Given the description of an element on the screen output the (x, y) to click on. 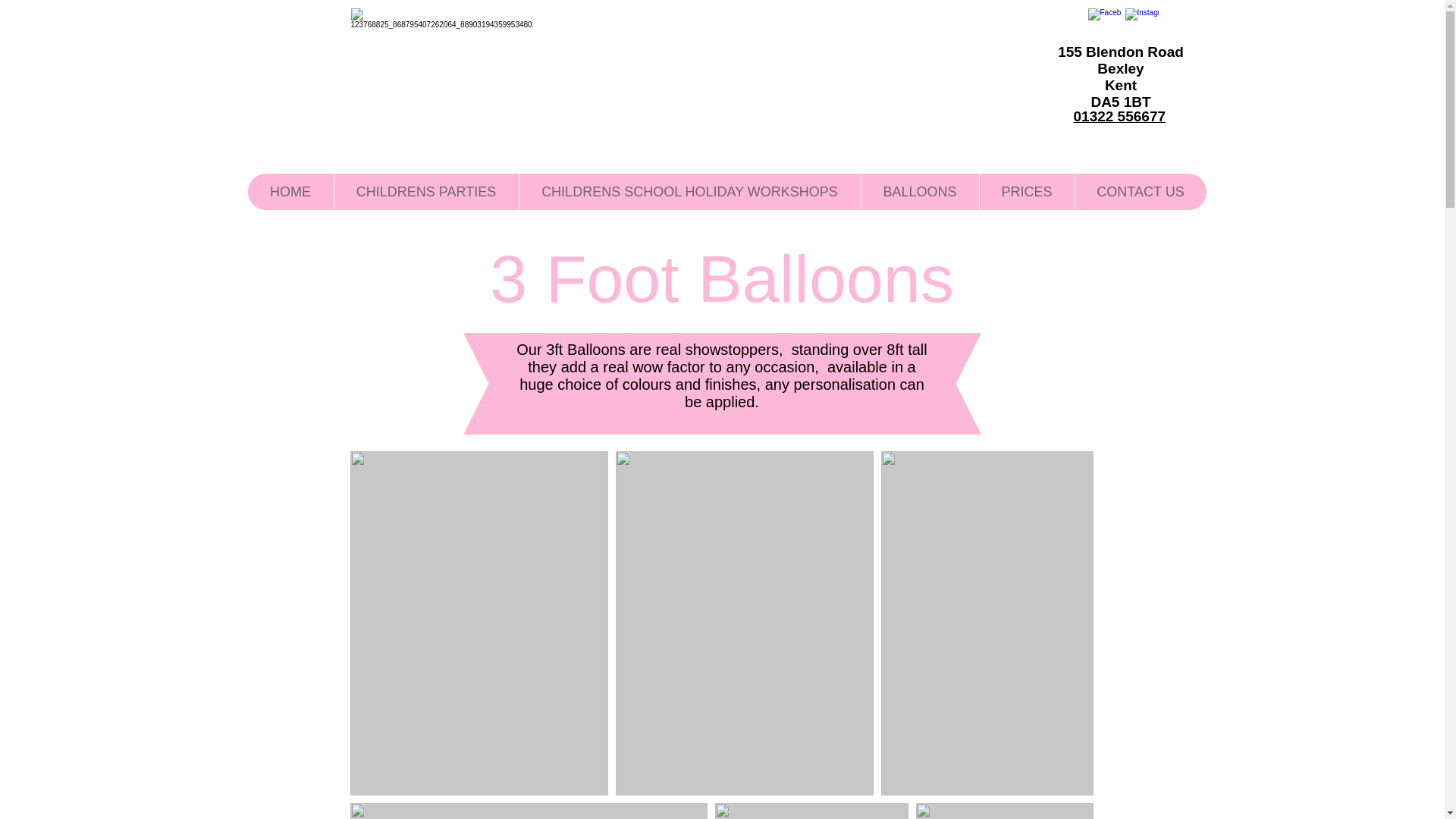
HOME (290, 191)
PRICES (1026, 191)
01322 556677 (1120, 116)
CHILDRENS SCHOOL HOLIDAY WORKSHOPS (689, 191)
CHILDRENS PARTIES (425, 191)
CONTACT US (1139, 191)
